Given the description of an element on the screen output the (x, y) to click on. 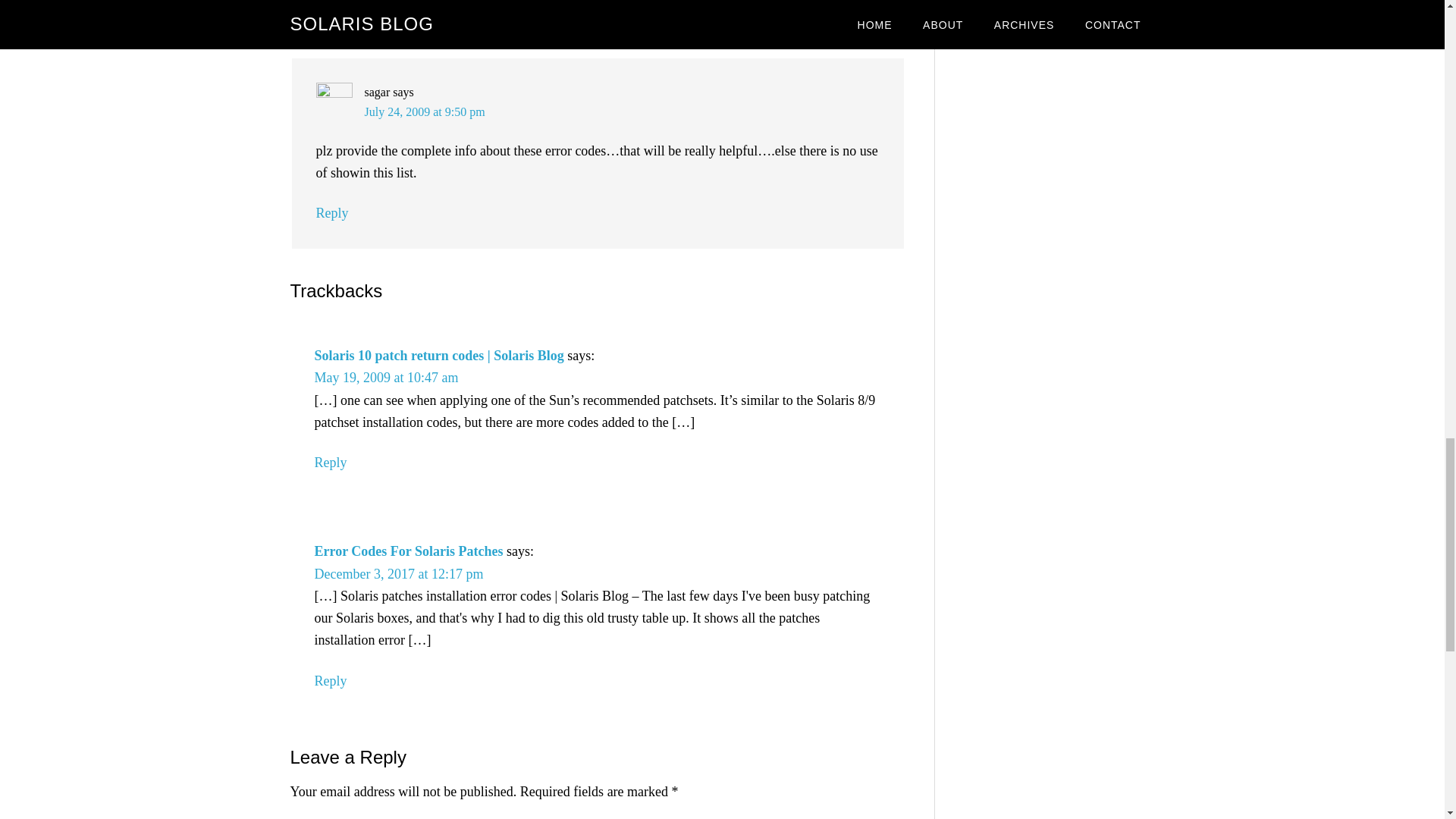
Error Codes For Solaris Patches (408, 550)
Reply (331, 212)
July 24, 2009 at 9:50 pm (424, 111)
Reply (330, 680)
May 19, 2009 at 10:47 am (386, 377)
December 3, 2017 at 12:17 pm (398, 573)
Reply (330, 462)
